Given the description of an element on the screen output the (x, y) to click on. 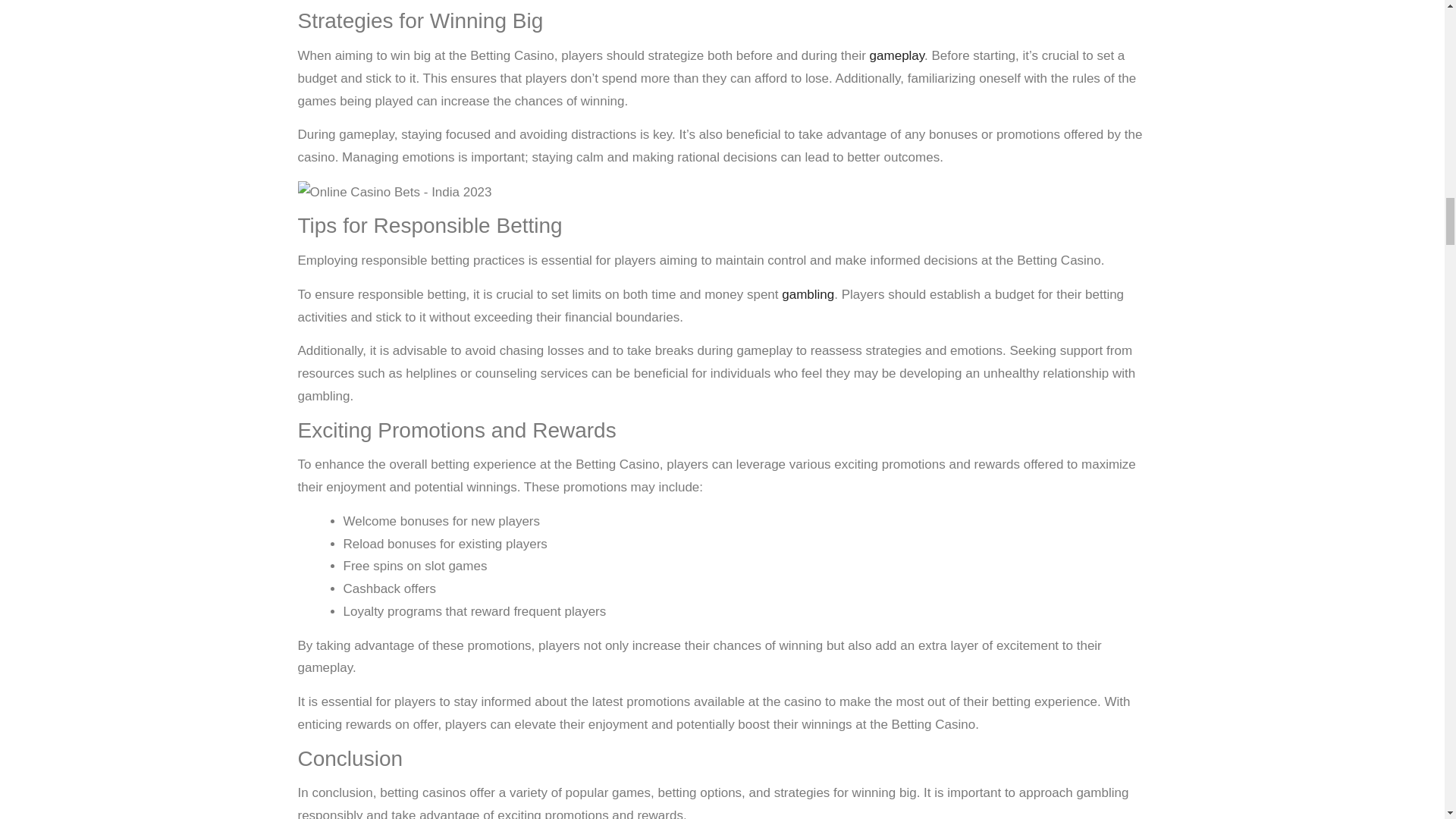
gameplay (896, 55)
gambling (807, 294)
